Given the description of an element on the screen output the (x, y) to click on. 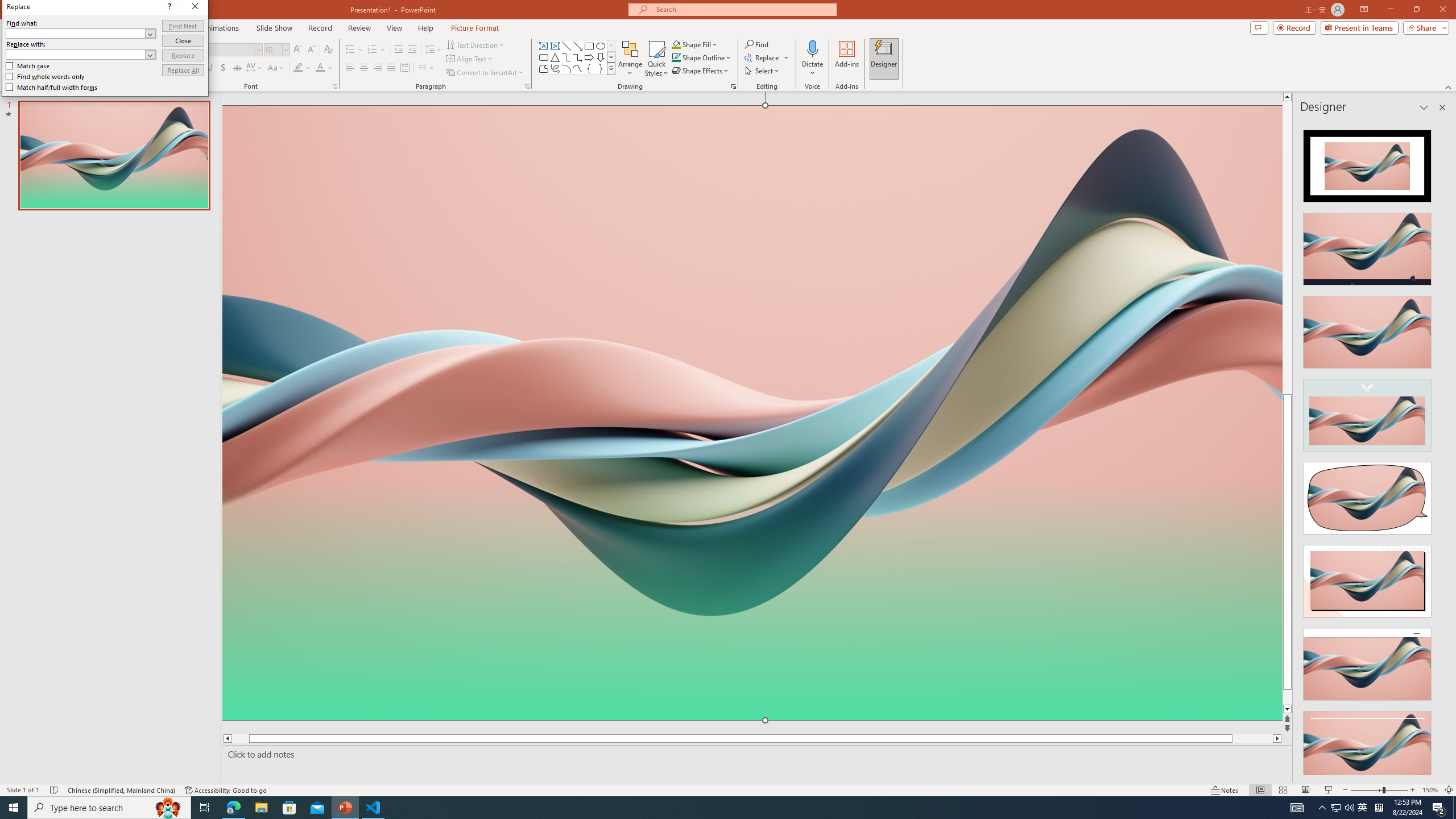
Context help (267, 77)
Recommended Design: Design Idea (1366, 162)
